Given the description of an element on the screen output the (x, y) to click on. 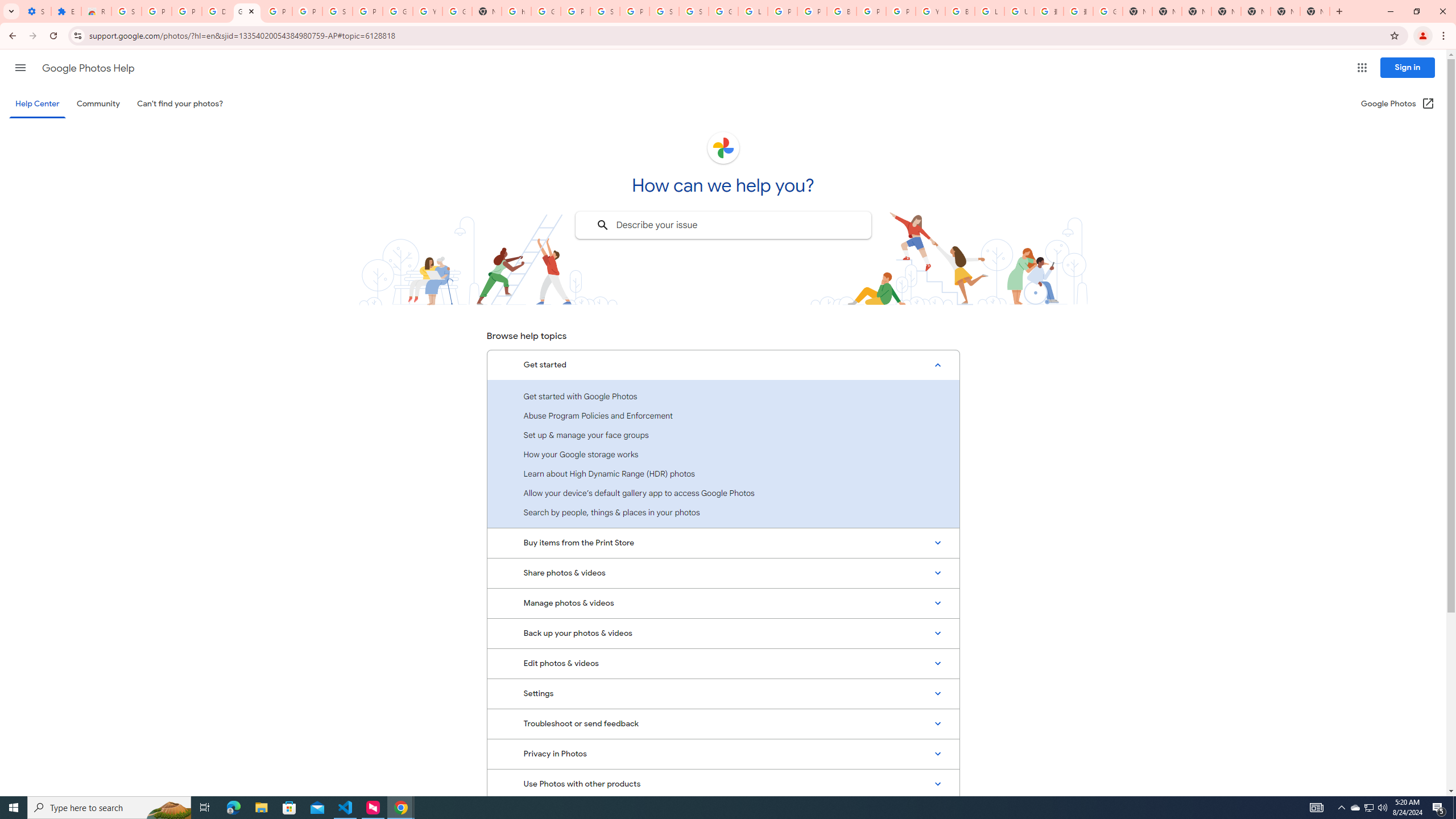
Help Center (36, 103)
Community (97, 103)
YouTube (930, 11)
Extensions (65, 11)
Sign in - Google Accounts (664, 11)
Google Photos (Open in a new window) (1397, 103)
Settings (722, 693)
